Given the description of an element on the screen output the (x, y) to click on. 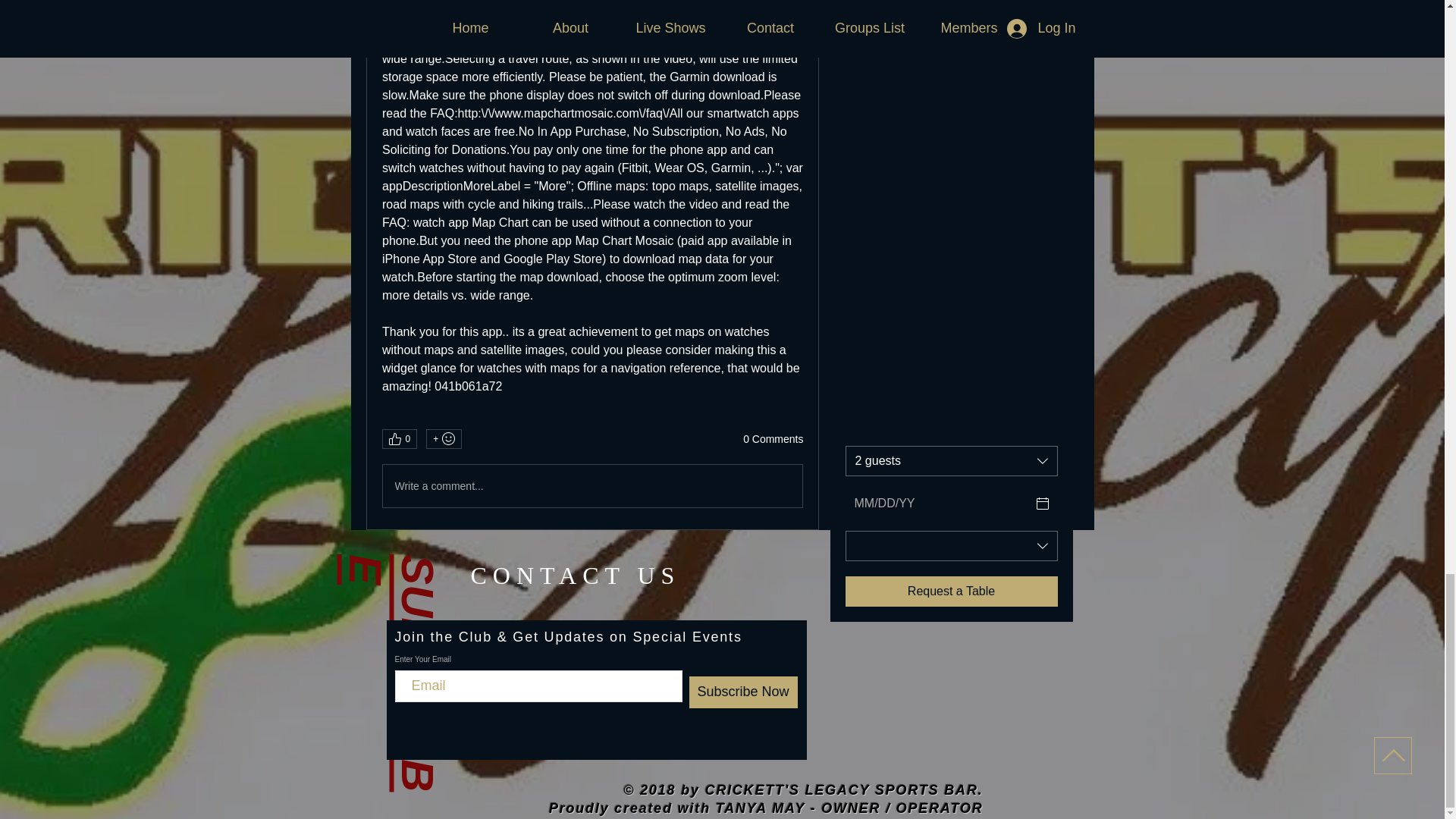
Write a comment... (591, 485)
Request a Table (950, 591)
0 Comments (772, 439)
Subscribe Now (742, 692)
2 guests (950, 460)
